Given the description of an element on the screen output the (x, y) to click on. 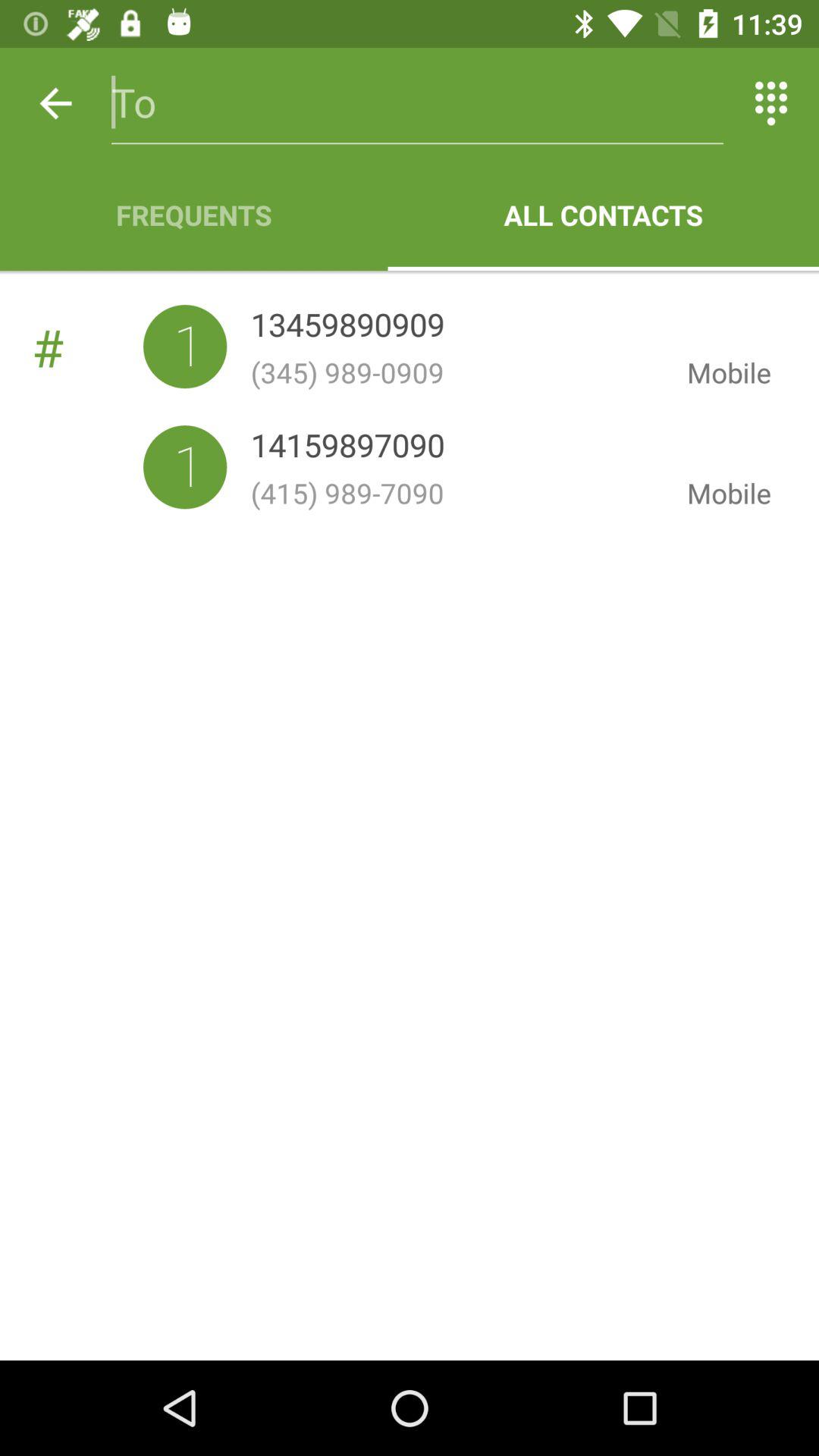
jump to frequents icon (193, 214)
